Given the description of an element on the screen output the (x, y) to click on. 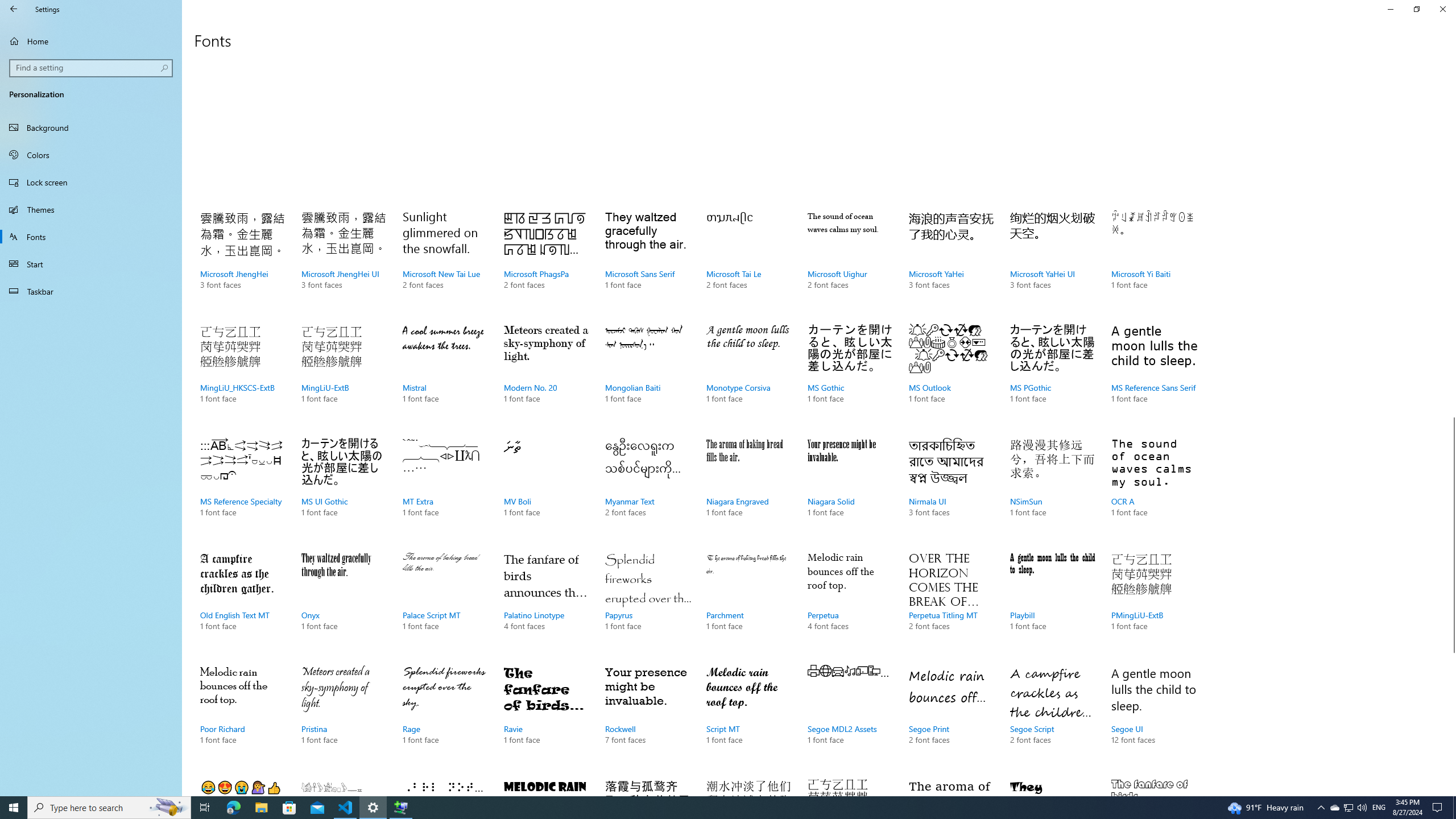
Extensible Wizards Host Process - 1 running window (400, 807)
Microsoft Uighur, 2 font faces (850, 261)
Microsoft Sans Serif, 1 font face (647, 261)
Vertical Large Increase (1451, 719)
Palace Script MT, 1 font face (445, 603)
Ravie, 1 font face (545, 716)
MingLiU_HKSCS-ExtB, 1 font face (243, 375)
Niagara Solid, 1 font face (850, 489)
Themes (91, 208)
MS PGothic, 1 font face (1052, 375)
STCaiyun, 1 font face (1153, 784)
Vertical Large Decrease (1451, 240)
Vertical Small Increase (1451, 791)
